Given the description of an element on the screen output the (x, y) to click on. 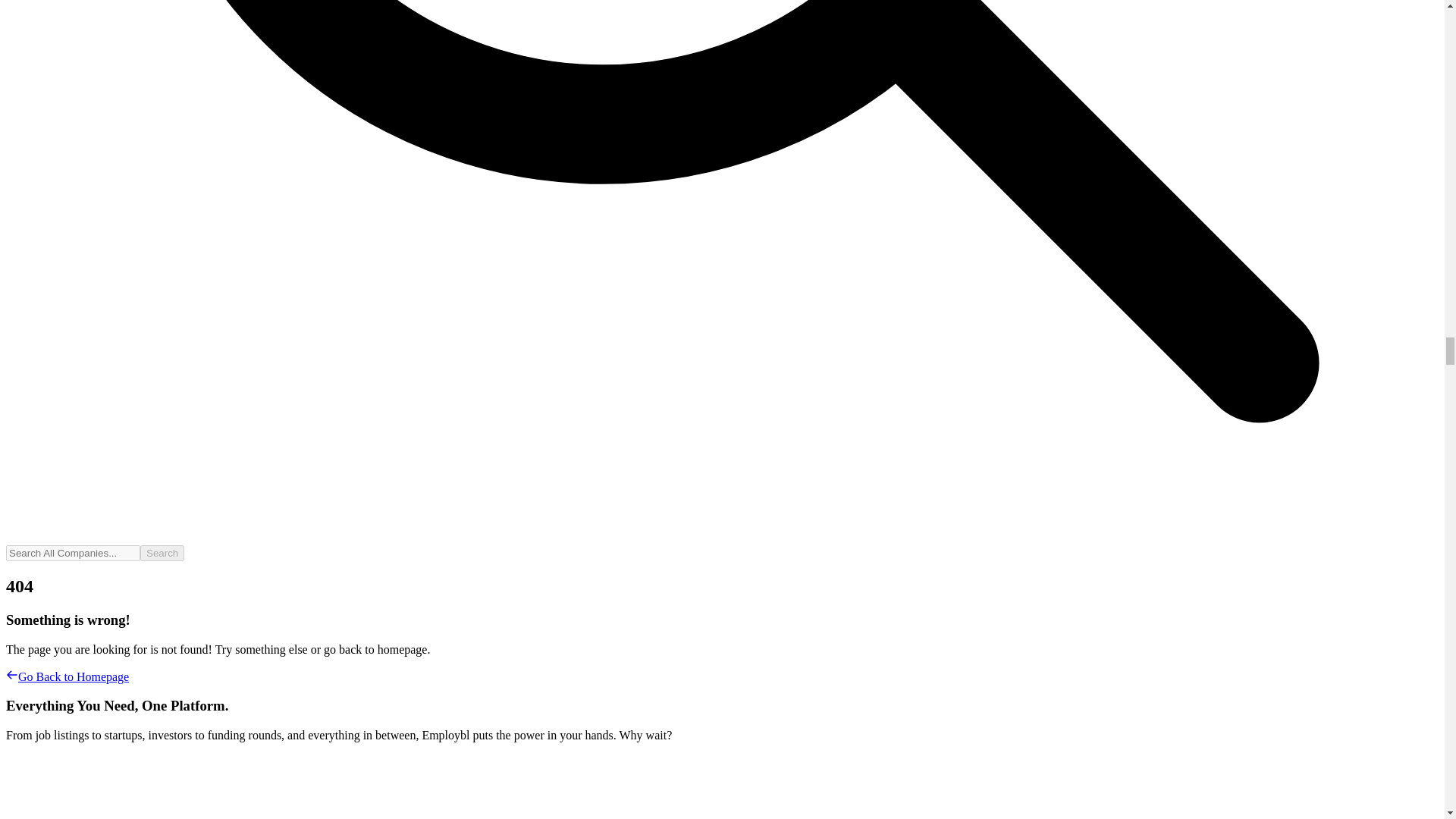
Go Back to Homepage (67, 676)
Search (161, 553)
